Given the description of an element on the screen output the (x, y) to click on. 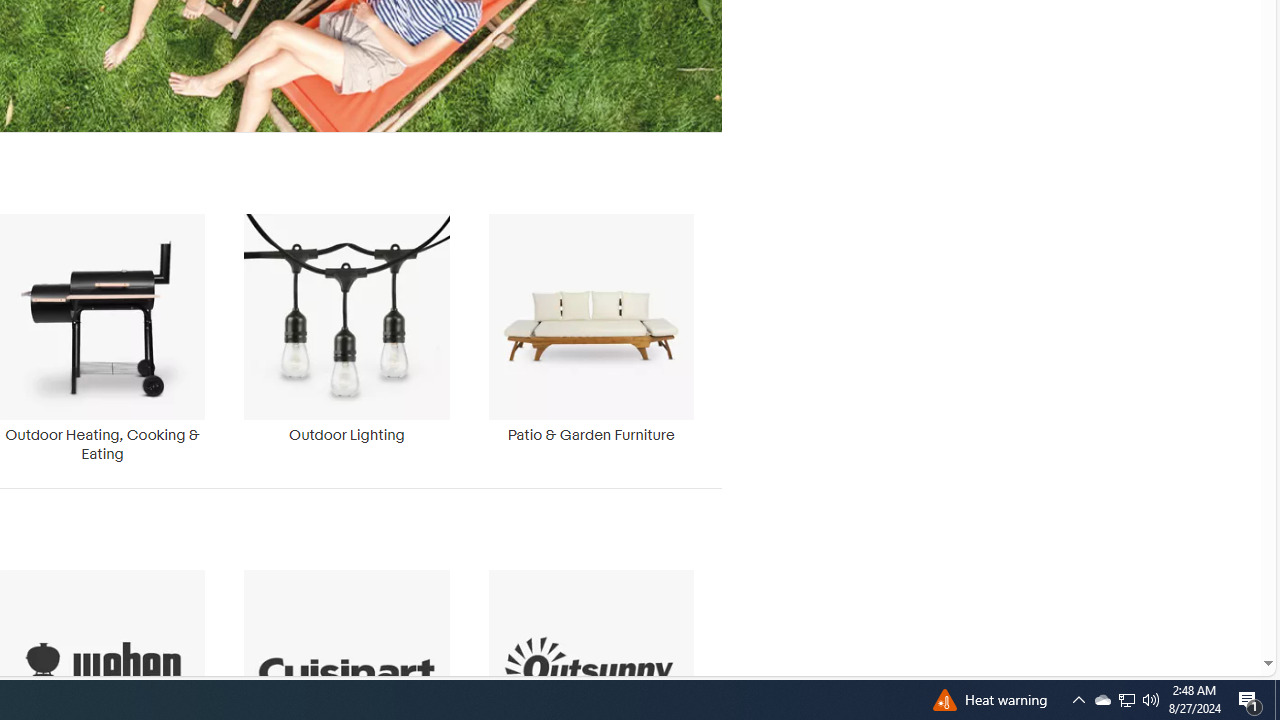
Outdoor Lighting (346, 328)
Outdoor Lighting (346, 338)
Patio & Garden Furniture (591, 338)
Patio & Garden Furniture (591, 328)
